Given the description of an element on the screen output the (x, y) to click on. 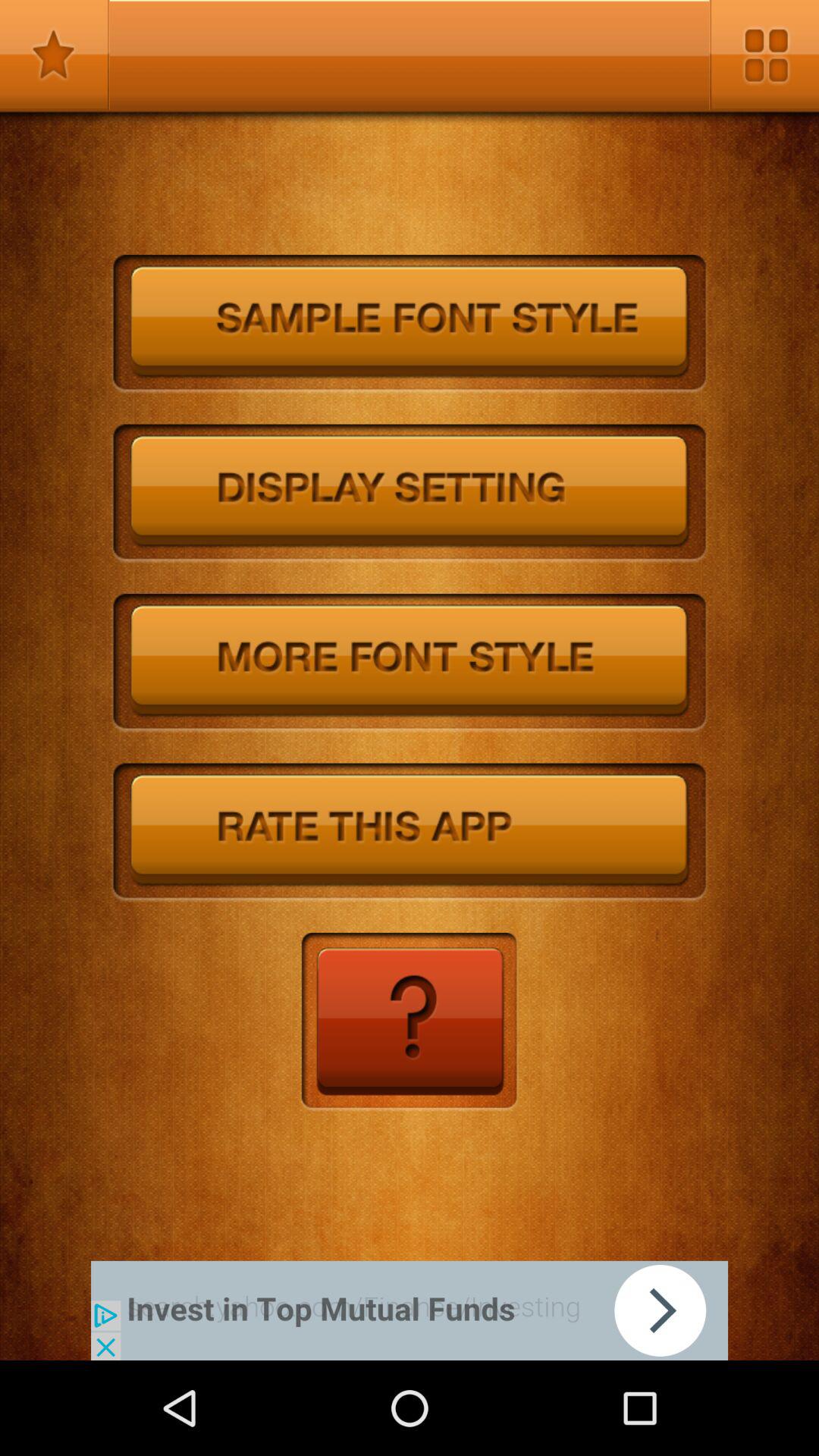
favorite (54, 54)
